Given the description of an element on the screen output the (x, y) to click on. 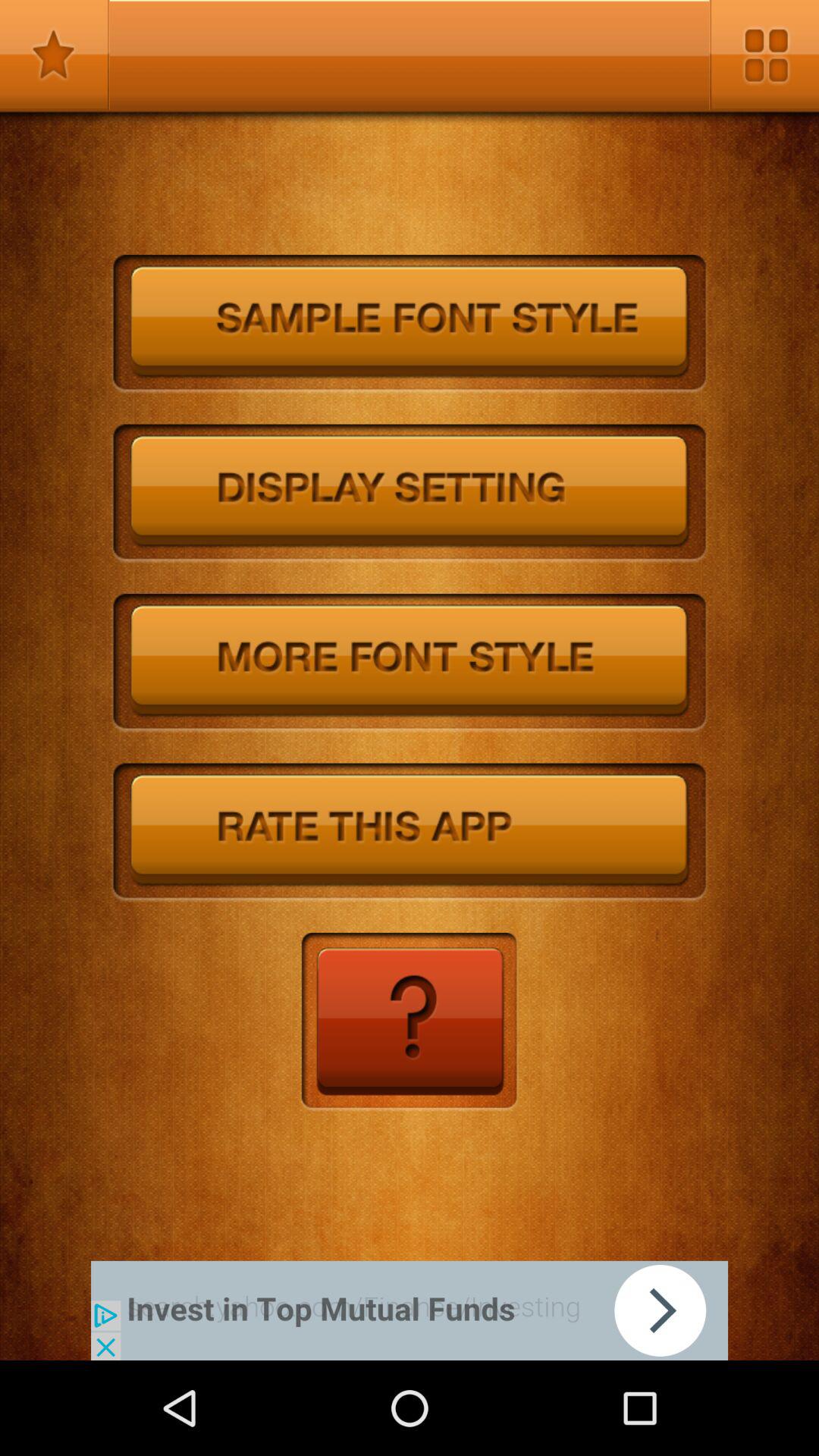
favorite (54, 54)
